Given the description of an element on the screen output the (x, y) to click on. 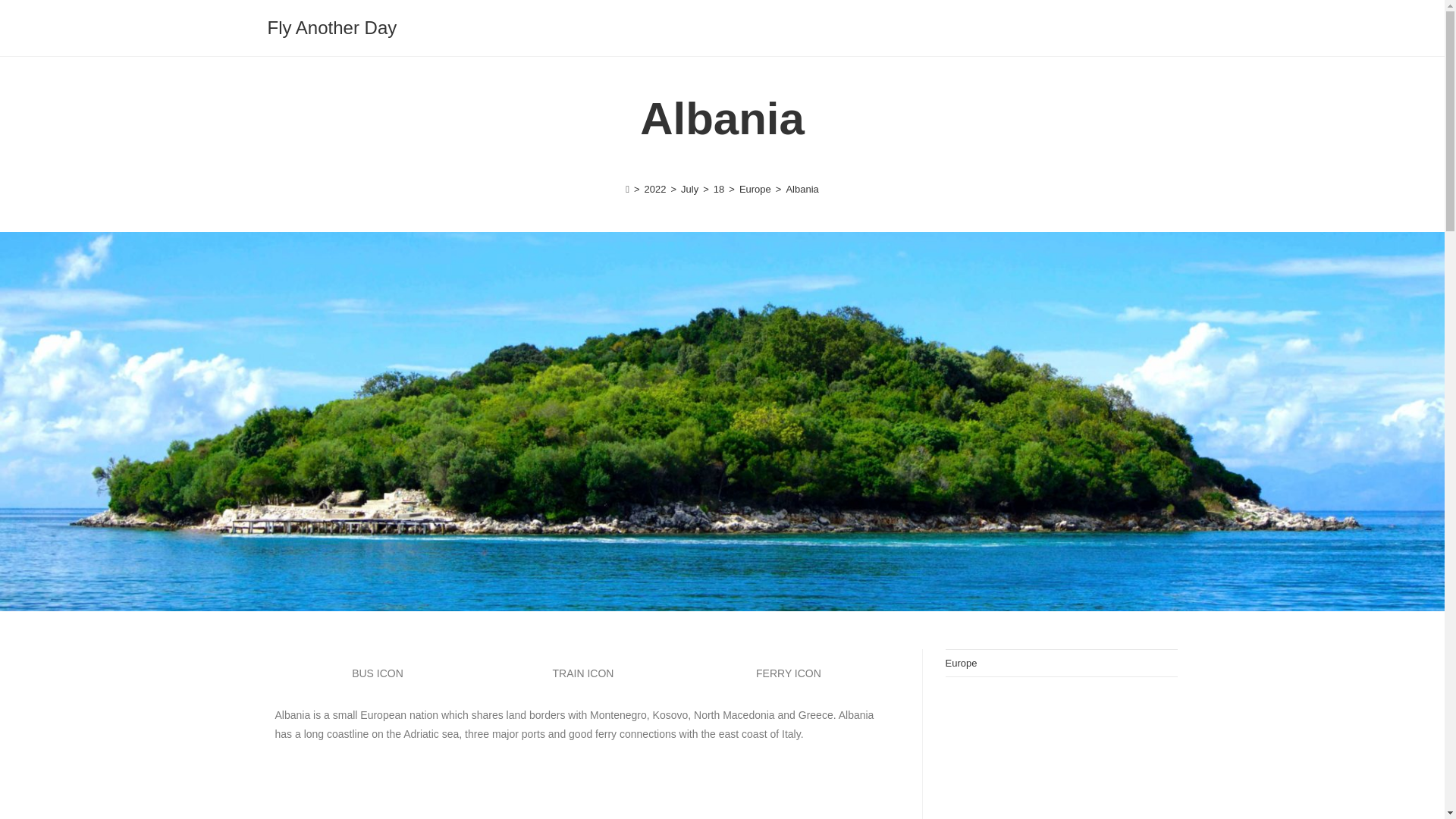
18 (718, 188)
Albania (583, 796)
Albania (802, 188)
July (689, 188)
2022 (655, 188)
Europe (755, 188)
Europe (960, 663)
Fly Another Day (331, 27)
